Given the description of an element on the screen output the (x, y) to click on. 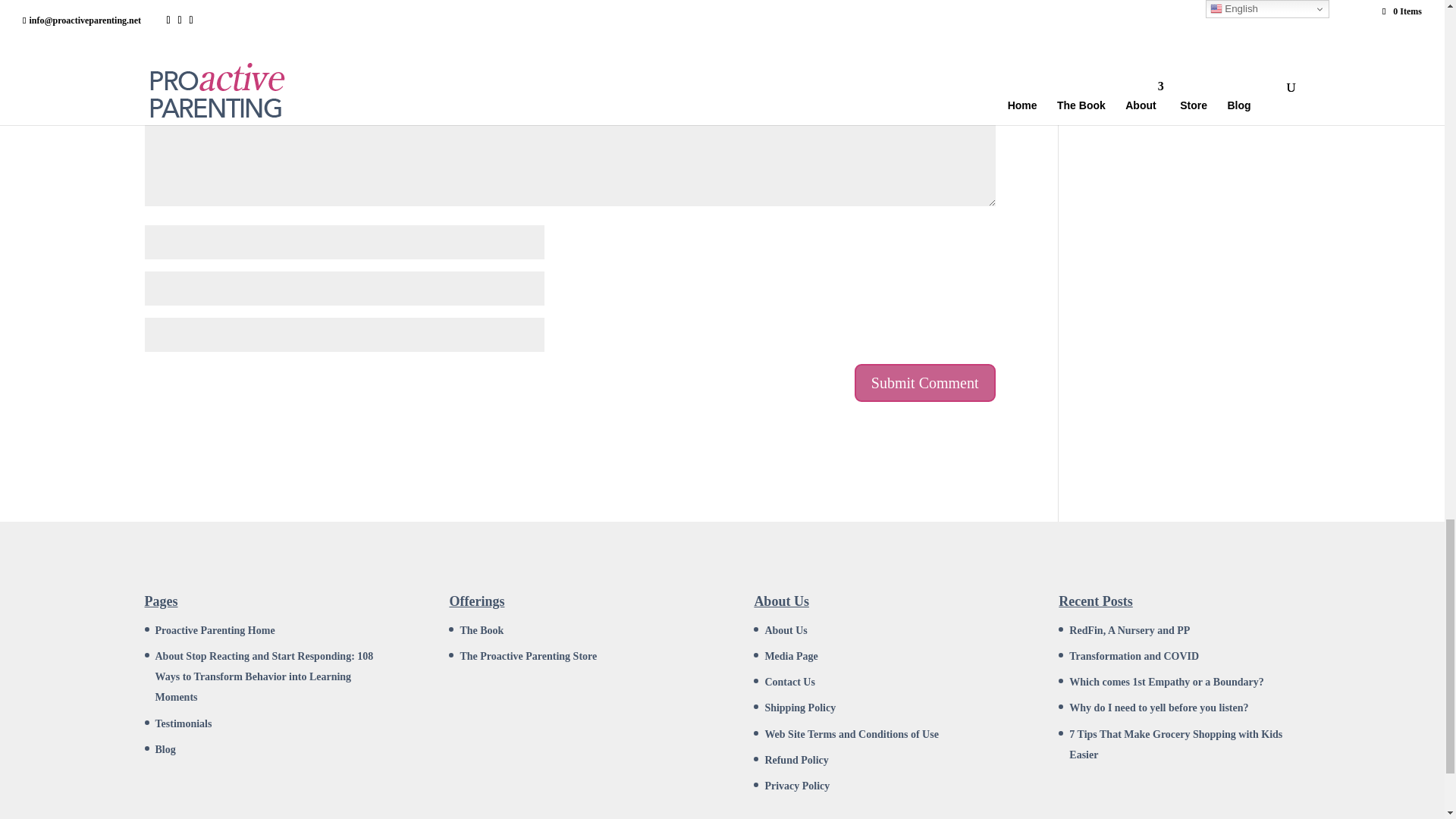
Submit Comment (924, 382)
Proactive Parenting Home (214, 630)
Testimonials (182, 723)
Submit Comment (924, 382)
